Given the description of an element on the screen output the (x, y) to click on. 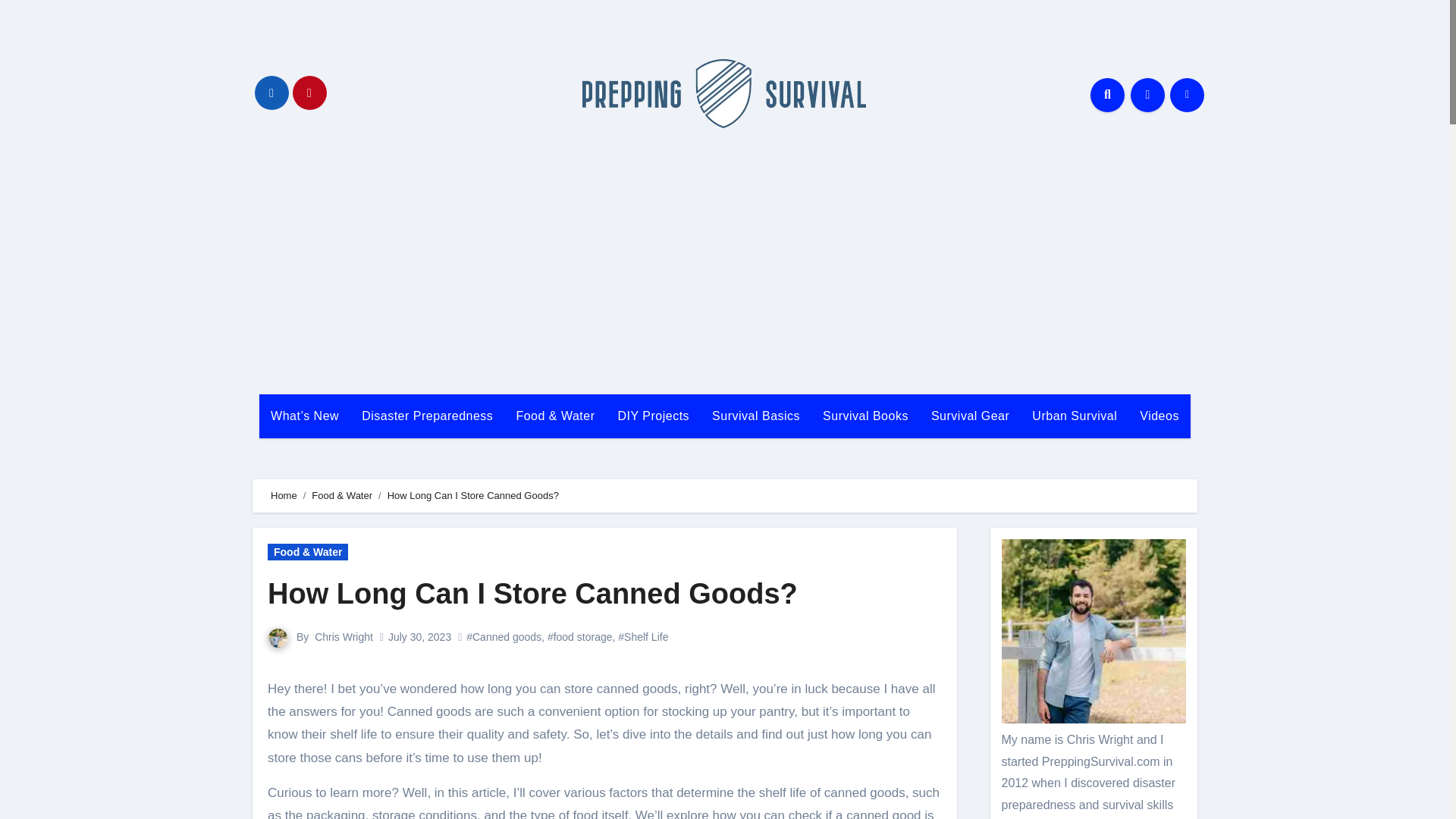
Urban Survival (1074, 415)
Videos (1159, 415)
July 30, 2023 (419, 636)
Chris Wright (343, 636)
DIY Projects (652, 415)
DIY Projects (652, 415)
Survival Gear (970, 415)
Home (283, 495)
How Long Can I Store Canned Goods? (532, 593)
